Given the description of an element on the screen output the (x, y) to click on. 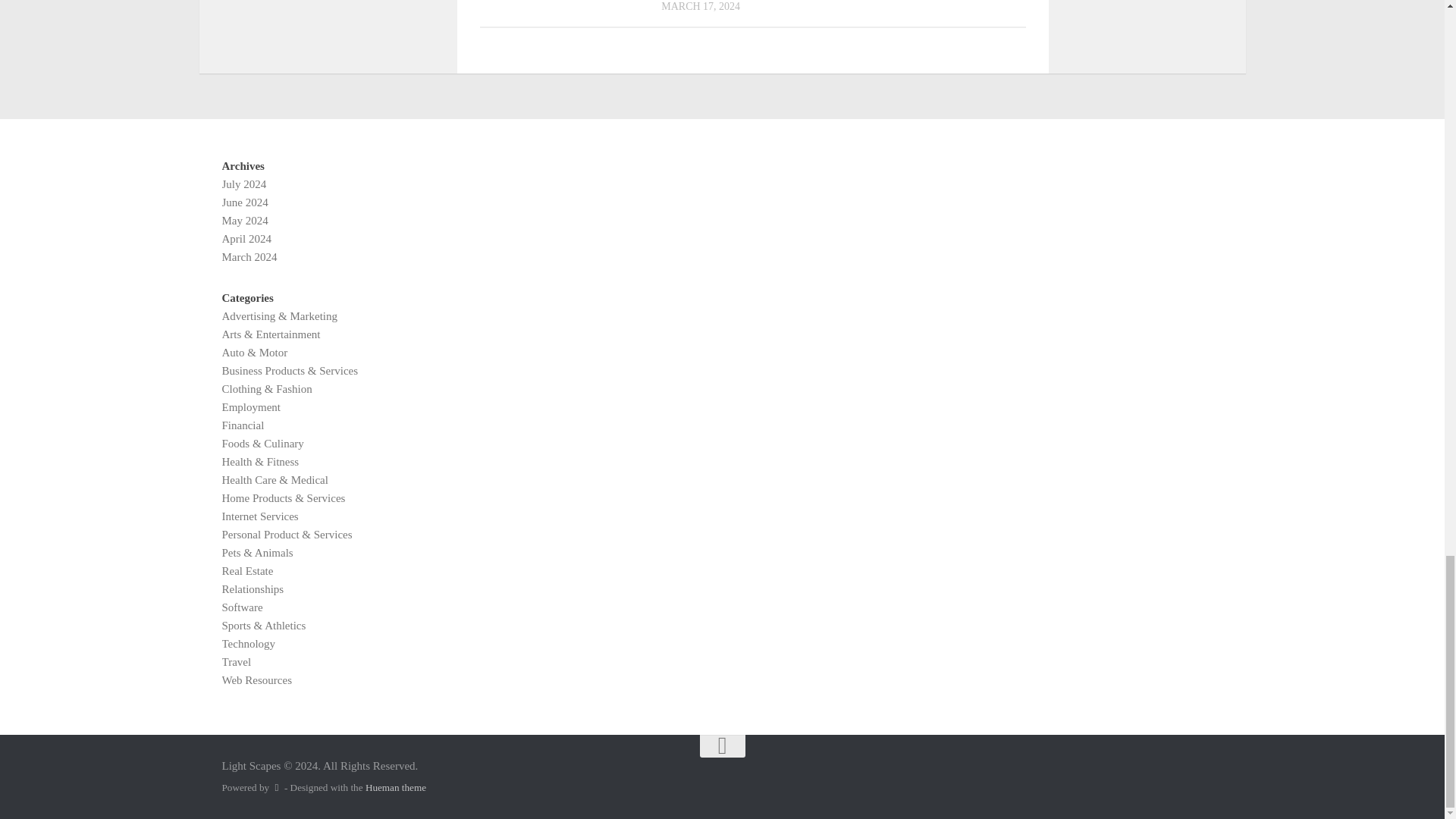
Employment (251, 407)
July 2024 (243, 184)
June 2024 (244, 202)
March 2024 (248, 256)
Powered by WordPress (275, 787)
May 2024 (244, 220)
April 2024 (245, 238)
Hueman theme (395, 787)
